Given the description of an element on the screen output the (x, y) to click on. 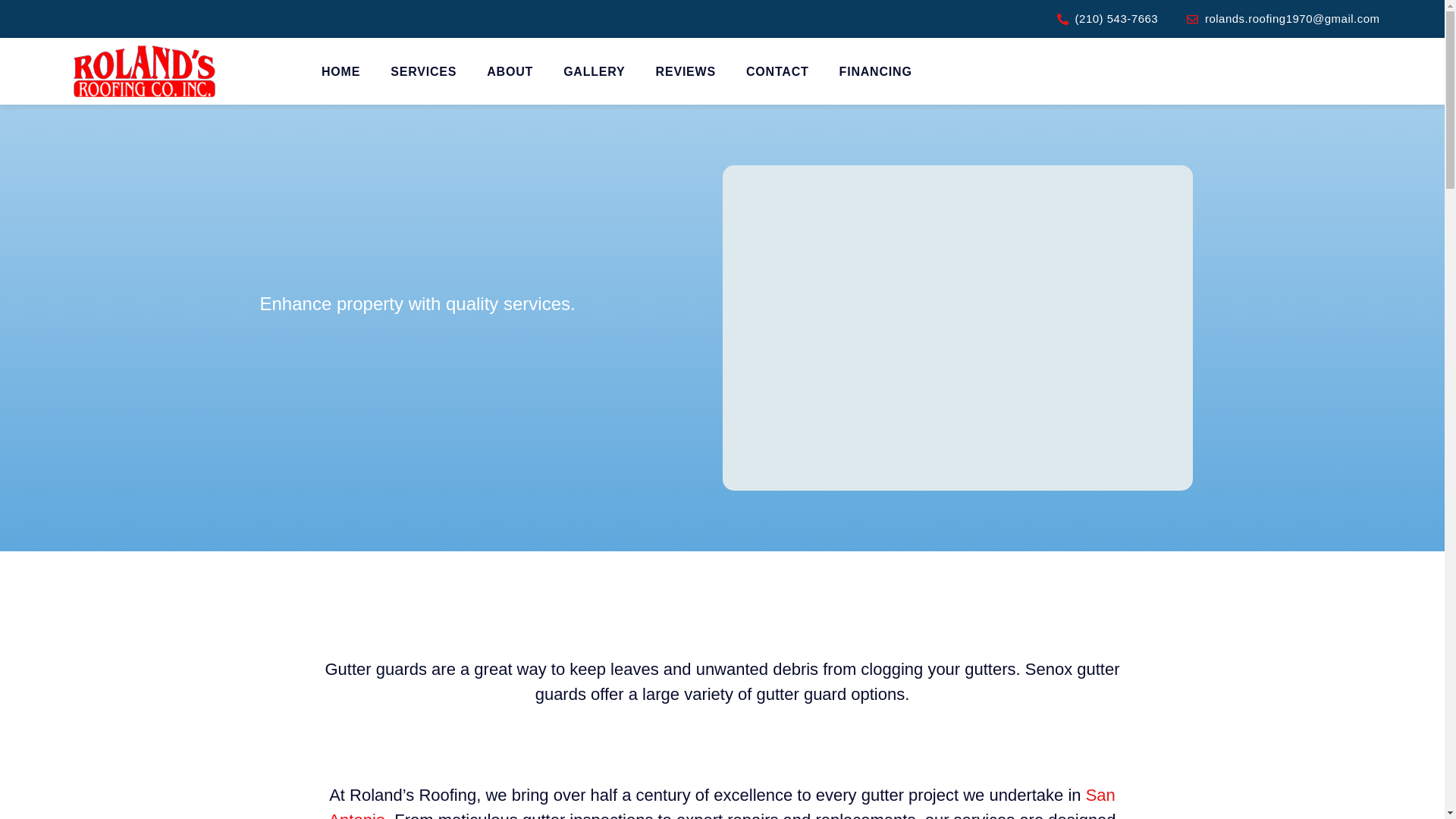
FINANCING (875, 71)
HOME (340, 71)
CONTACT (777, 71)
REVIEWS (685, 71)
GALLERY (594, 71)
ABOUT (510, 71)
SERVICES (423, 71)
